Given the description of an element on the screen output the (x, y) to click on. 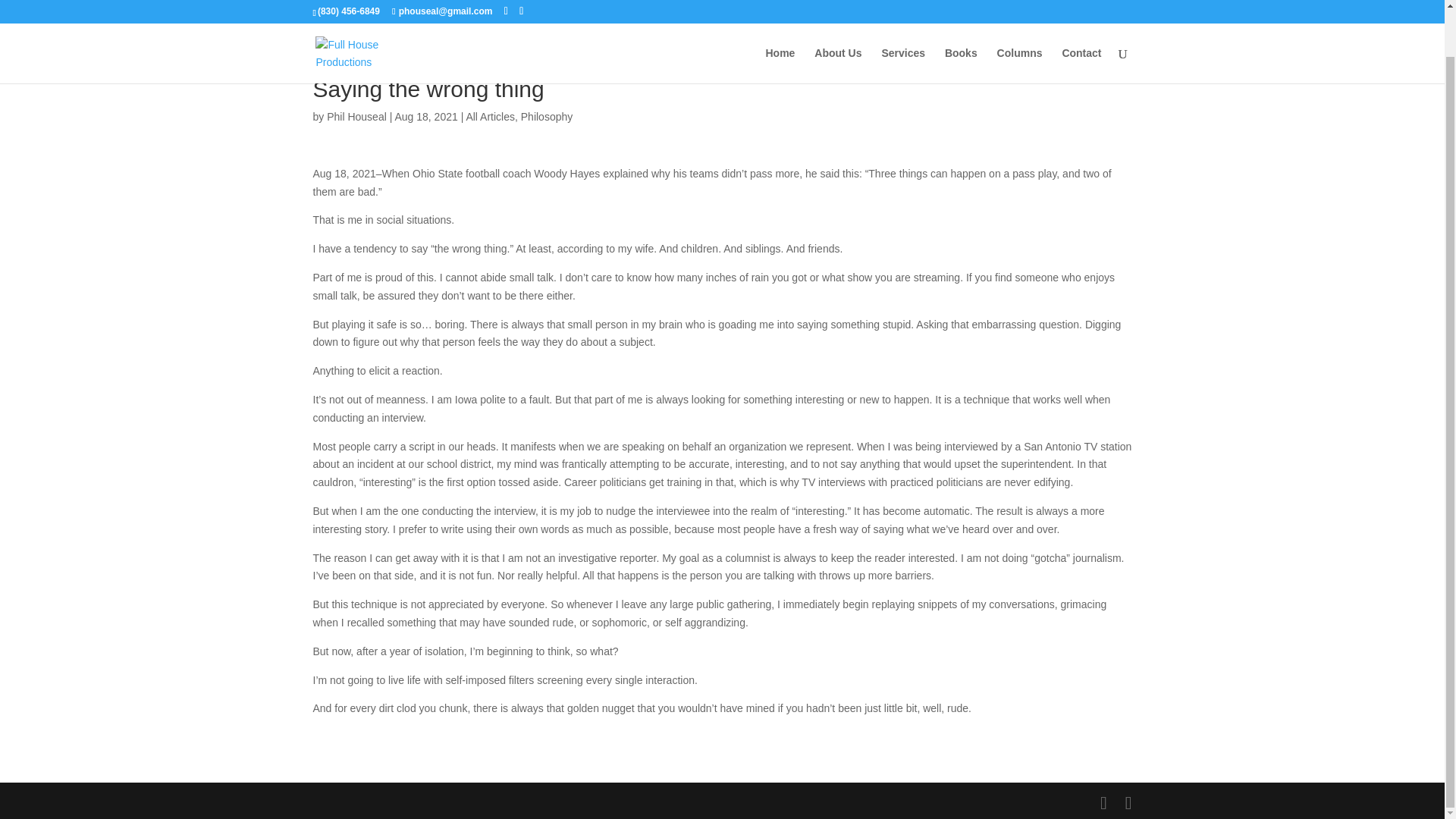
Contact (1080, 16)
Posts by Phil Houseal (356, 116)
Phil Houseal (356, 116)
About Us (837, 16)
Columns (1019, 16)
Books (960, 16)
Philosophy (547, 116)
Services (902, 16)
All Articles (490, 116)
